Given the description of an element on the screen output the (x, y) to click on. 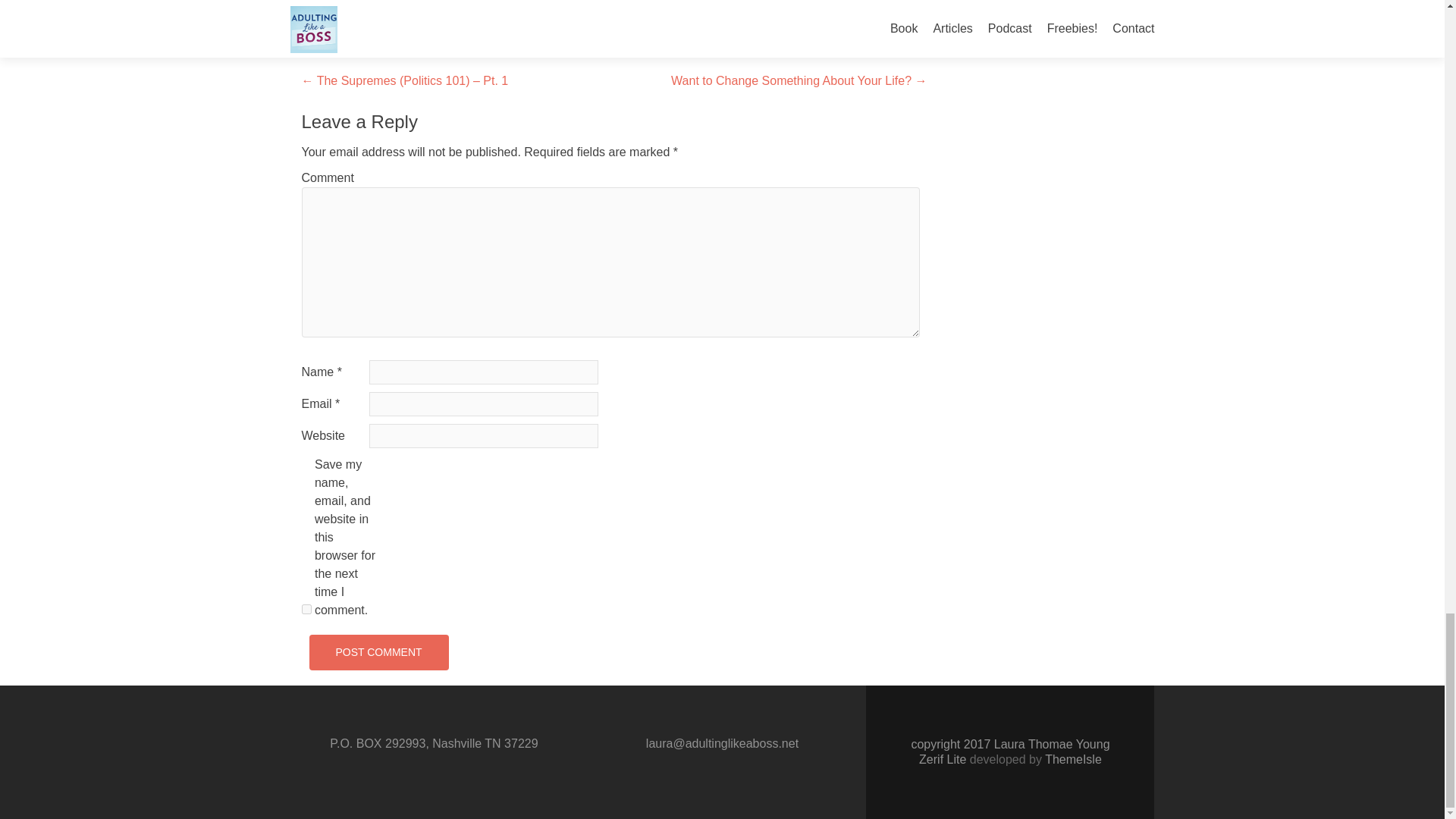
yes (306, 609)
Zerif Lite (943, 758)
Post Comment (378, 652)
ThemeIsle (1073, 758)
Post Comment (378, 652)
